Given the description of an element on the screen output the (x, y) to click on. 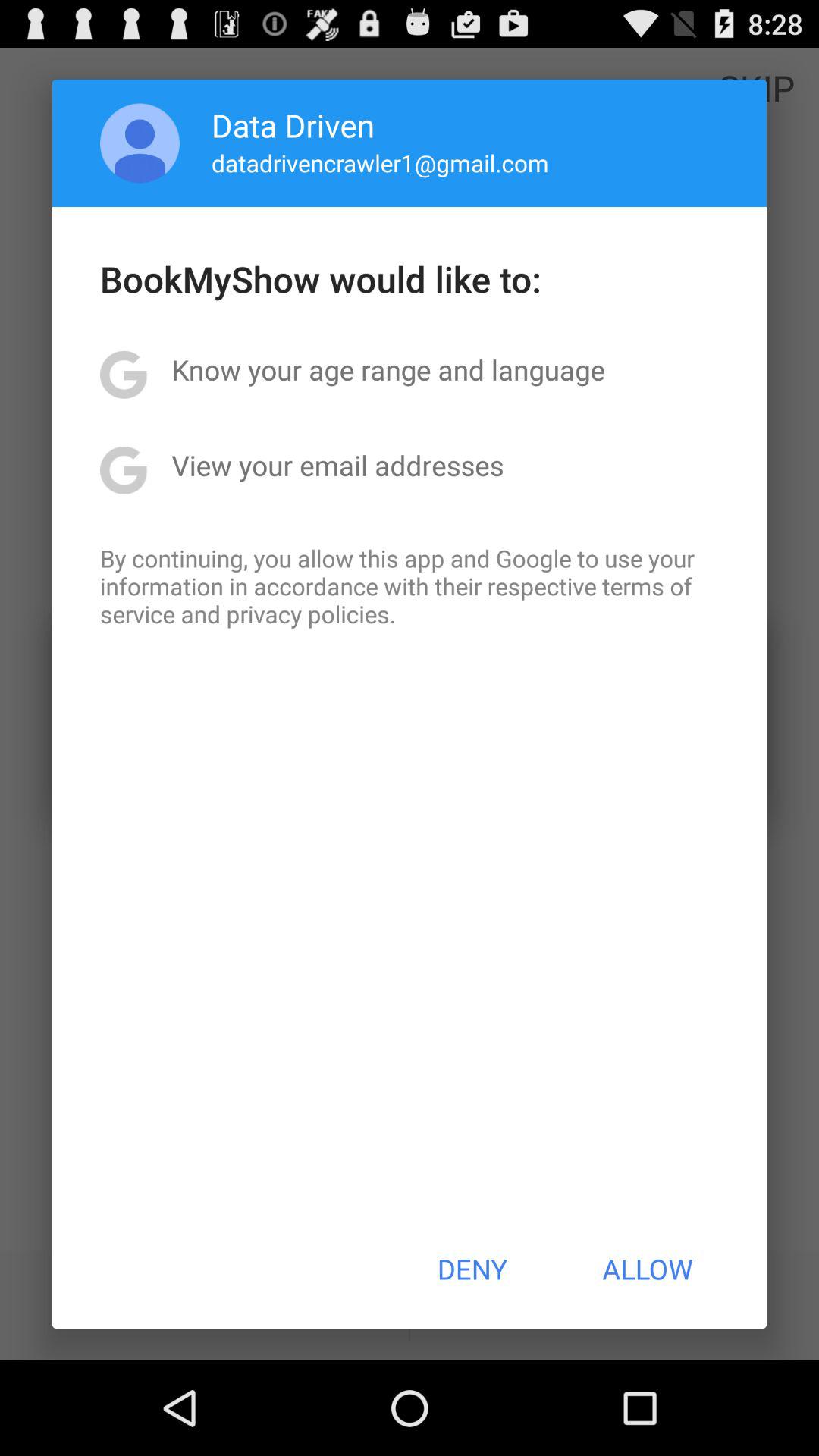
launch button next to allow (471, 1268)
